Given the description of an element on the screen output the (x, y) to click on. 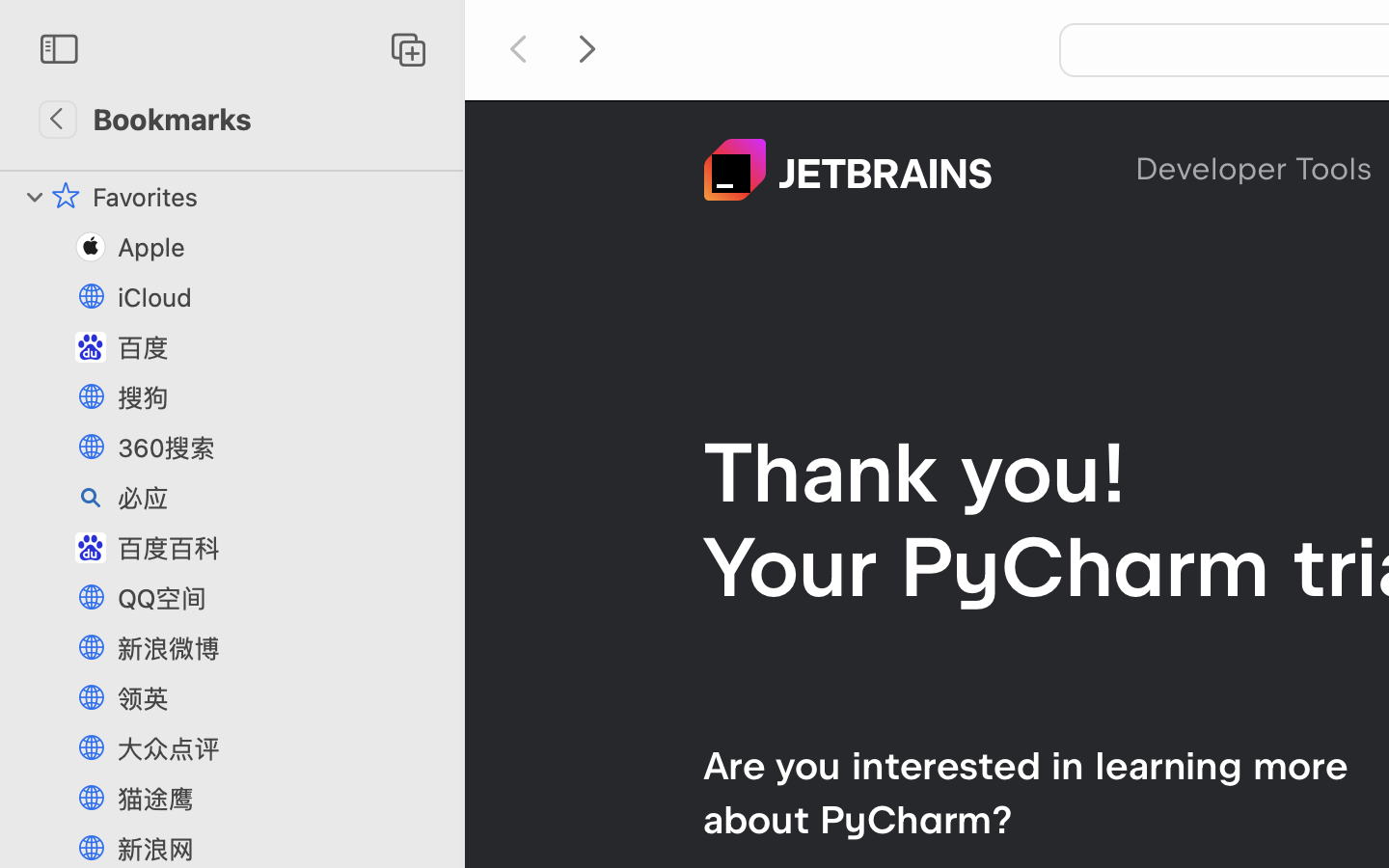
Bookmarks Element type: AXStaticText (171, 118)
1 Element type: AXDisclosureTriangle (35, 196)
百度百科 Element type: AXTextField (280, 547)
Are you interested in learning more about PyCharm? Element type: AXStaticText (1025, 792)
新浪微博 Element type: AXTextField (280, 647)
